Given the description of an element on the screen output the (x, y) to click on. 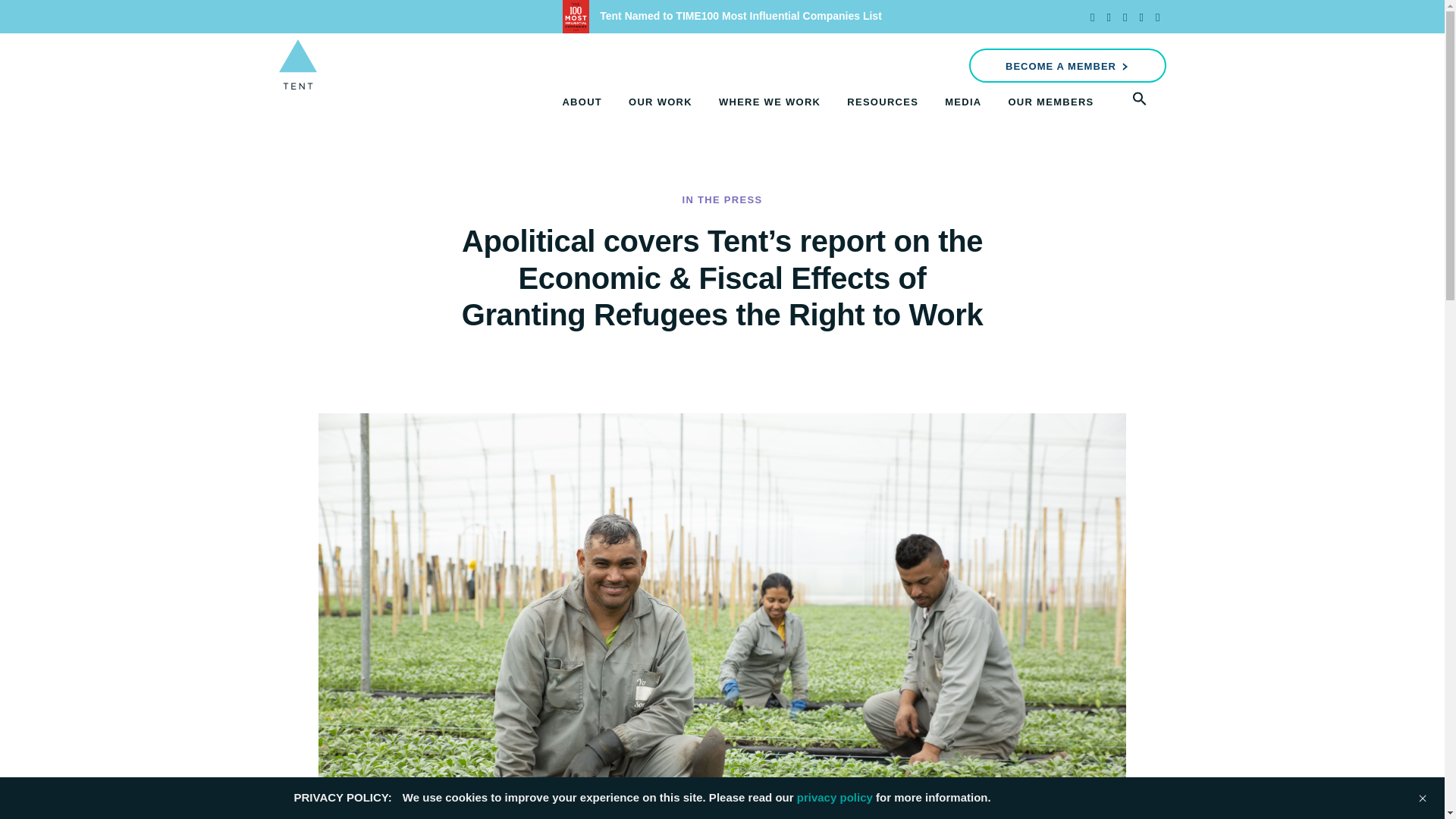
BECOME A MEMBER (1067, 65)
 Tent Named to TIME100 Most Influential Companies List (722, 15)
OUR WORK (660, 101)
ABOUT (582, 101)
WHERE WE WORK (770, 101)
